Given the description of an element on the screen output the (x, y) to click on. 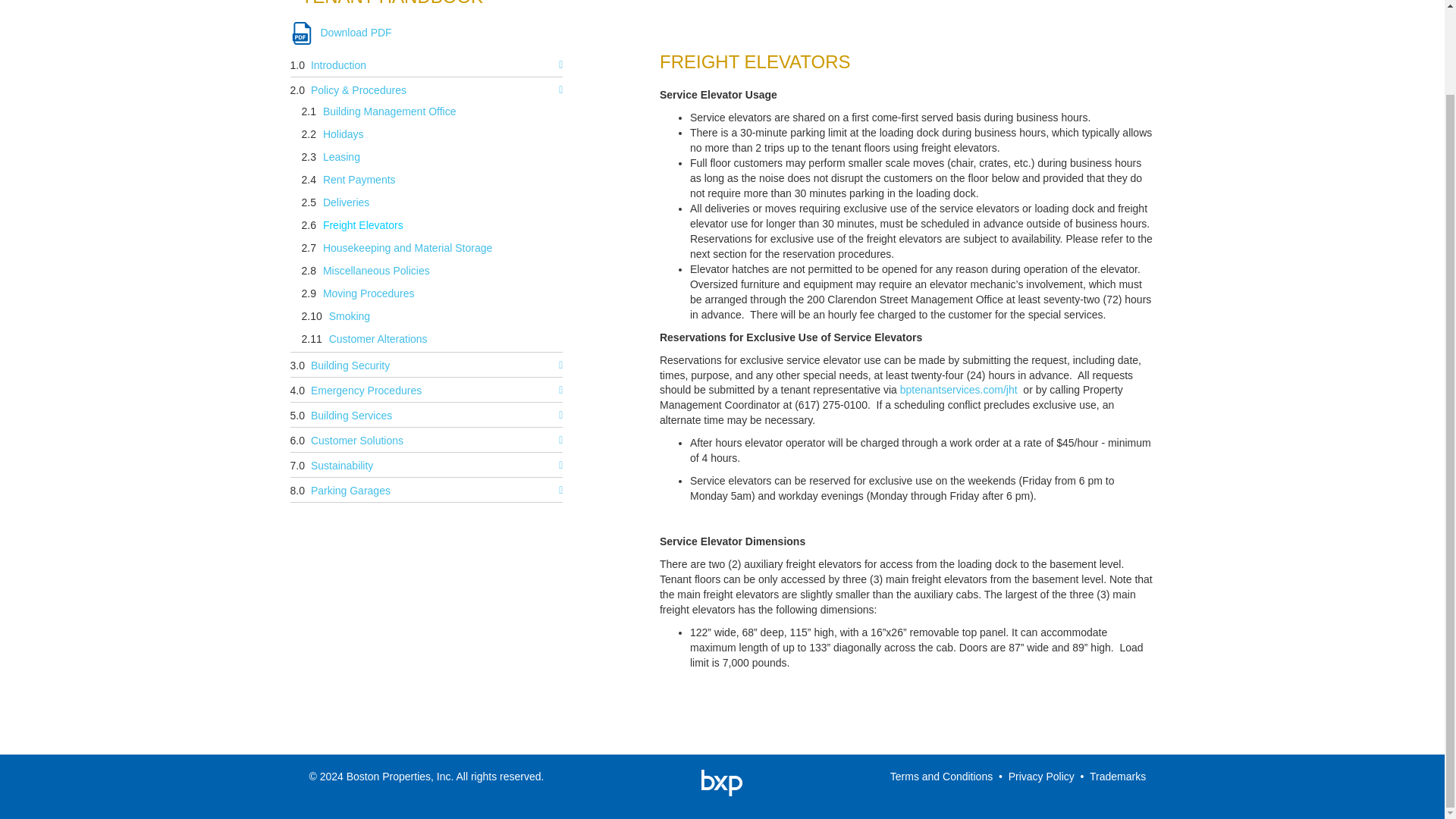
Customer Alterations (381, 340)
Holidays (346, 135)
Privacy Policy (1041, 776)
Deliveries (349, 203)
Download PDF (340, 33)
Housekeeping and Material Storage (410, 249)
Trademarks (1117, 776)
Smoking (352, 317)
Miscellaneous Policies (379, 272)
Building Security (354, 364)
